Given the description of an element on the screen output the (x, y) to click on. 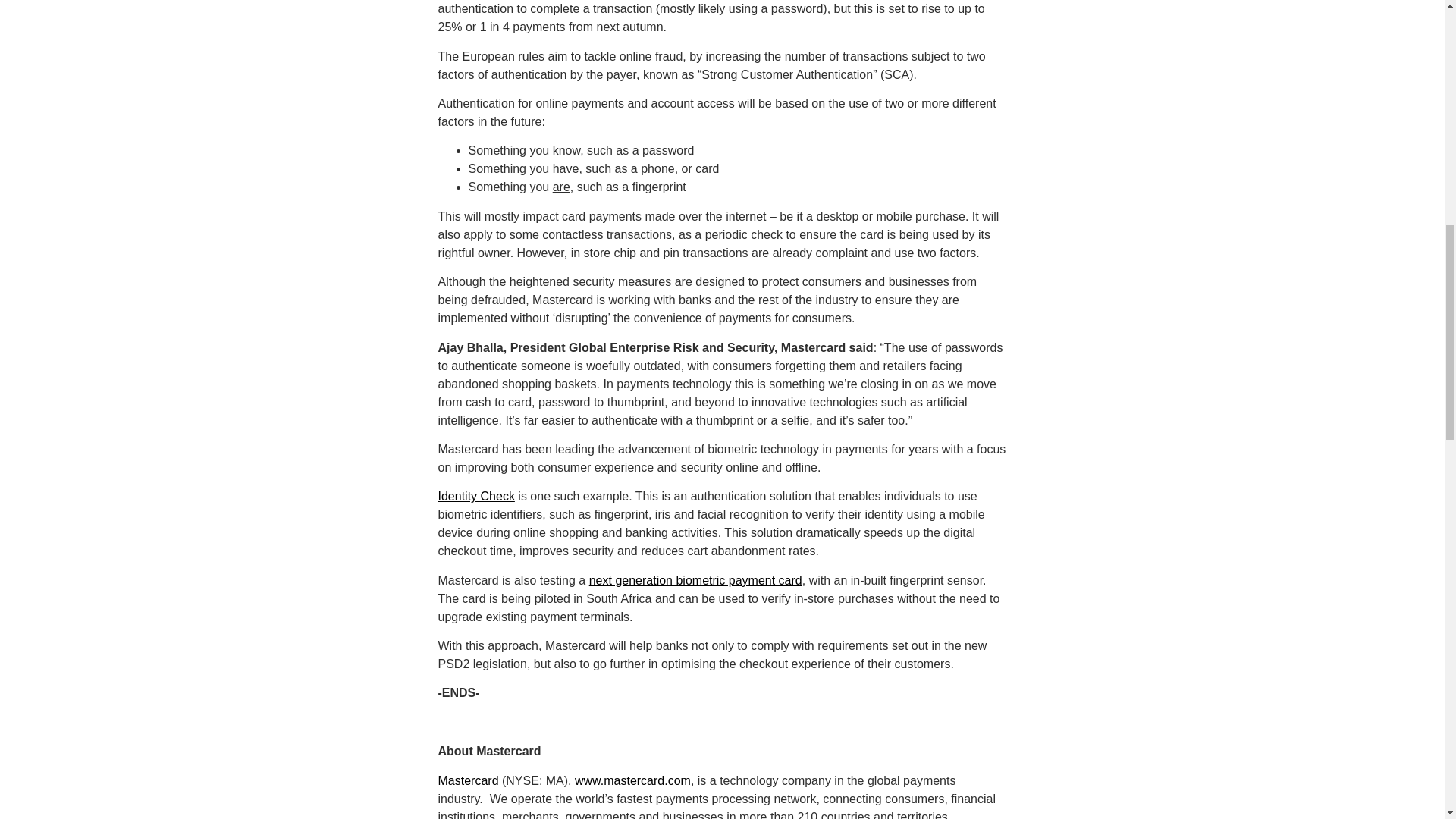
Mastercard (468, 780)
www.mastercard.com (632, 780)
Identity Check (476, 495)
next generation biometric payment card (695, 580)
